Given the description of an element on the screen output the (x, y) to click on. 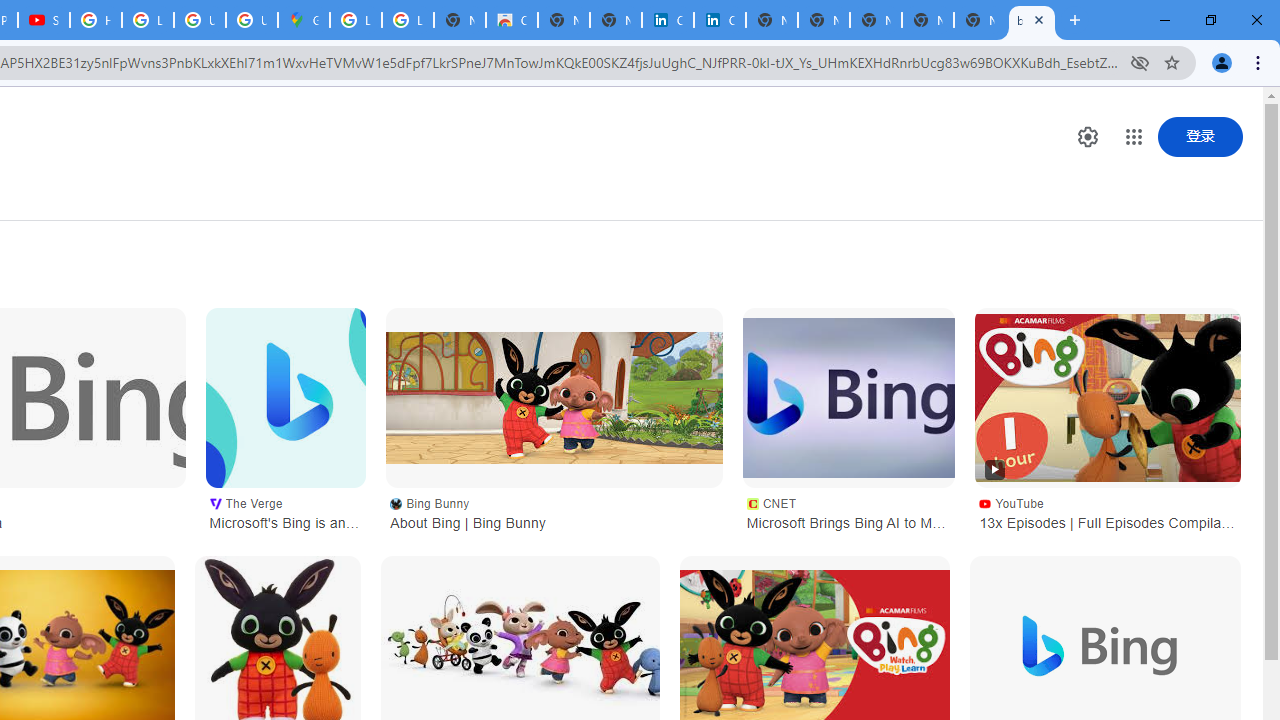
CNET Microsoft Brings Bing AI to More Browsers - CNET (849, 511)
Microsoft Brings Bing AI to More Browsers - CNET (849, 398)
Bing Bunny About Bing | Bing Bunny (554, 511)
Subscriptions - YouTube (43, 20)
